Given the description of an element on the screen output the (x, y) to click on. 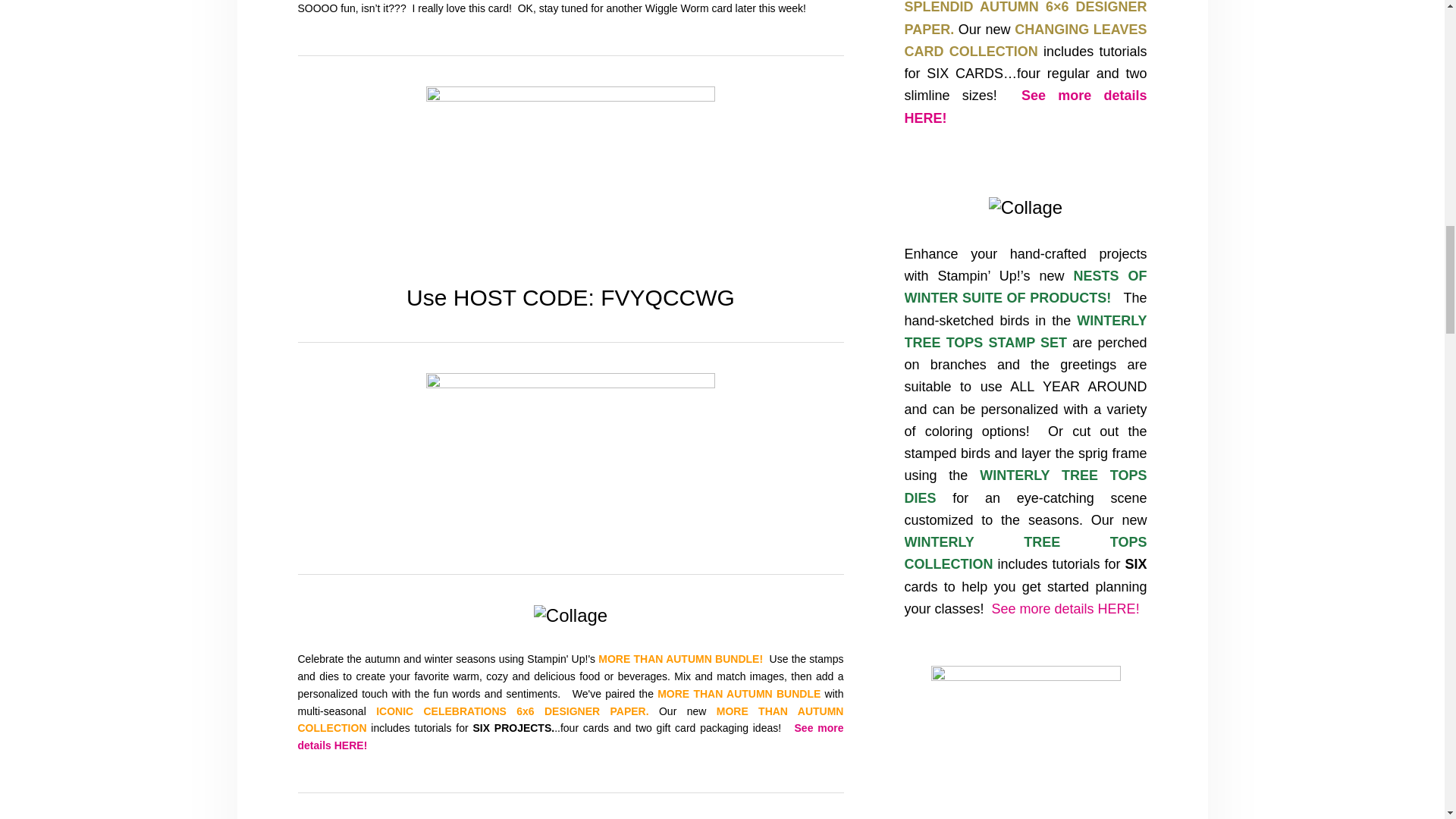
See more details HERE! (1025, 106)
See more details HERE! (1065, 608)
See more details HERE! (570, 736)
